Given the description of an element on the screen output the (x, y) to click on. 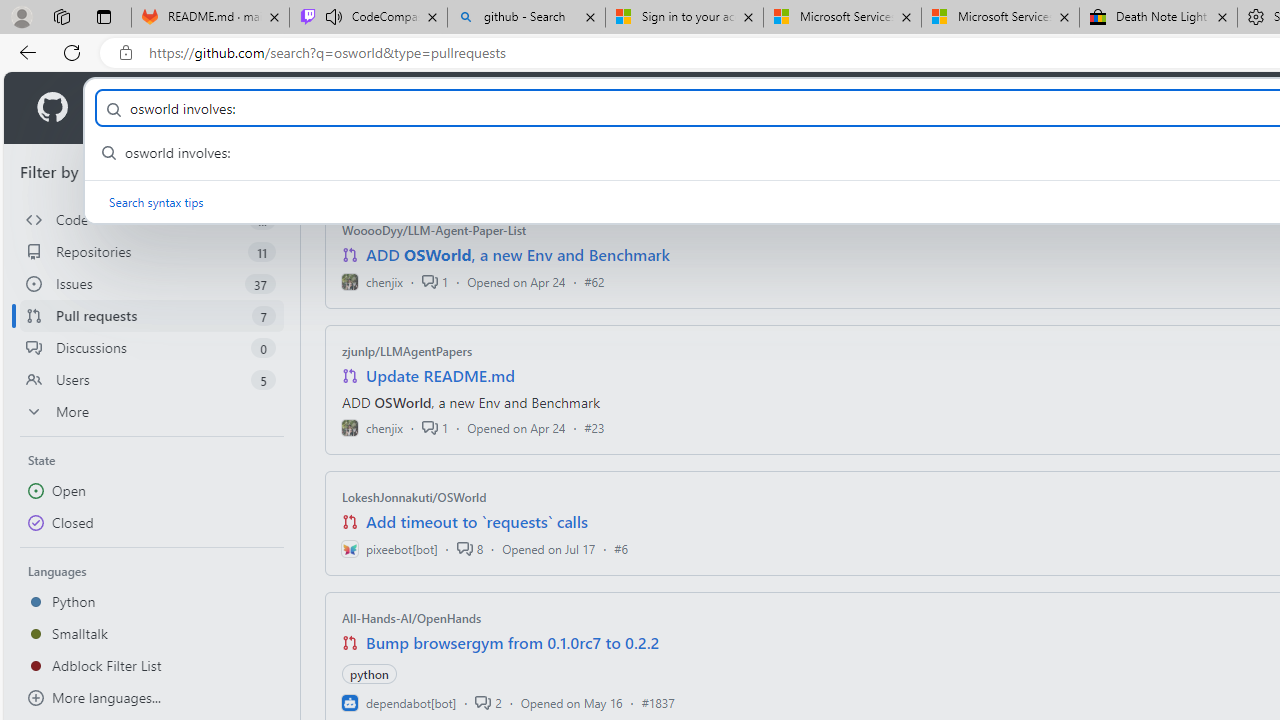
WooooDyy/LLM-Agent-Paper-List (434, 230)
Solutions (225, 107)
zjunlp/LLMAgentPapers (407, 351)
8 (469, 548)
Mute tab (333, 16)
Product (130, 107)
